Given the description of an element on the screen output the (x, y) to click on. 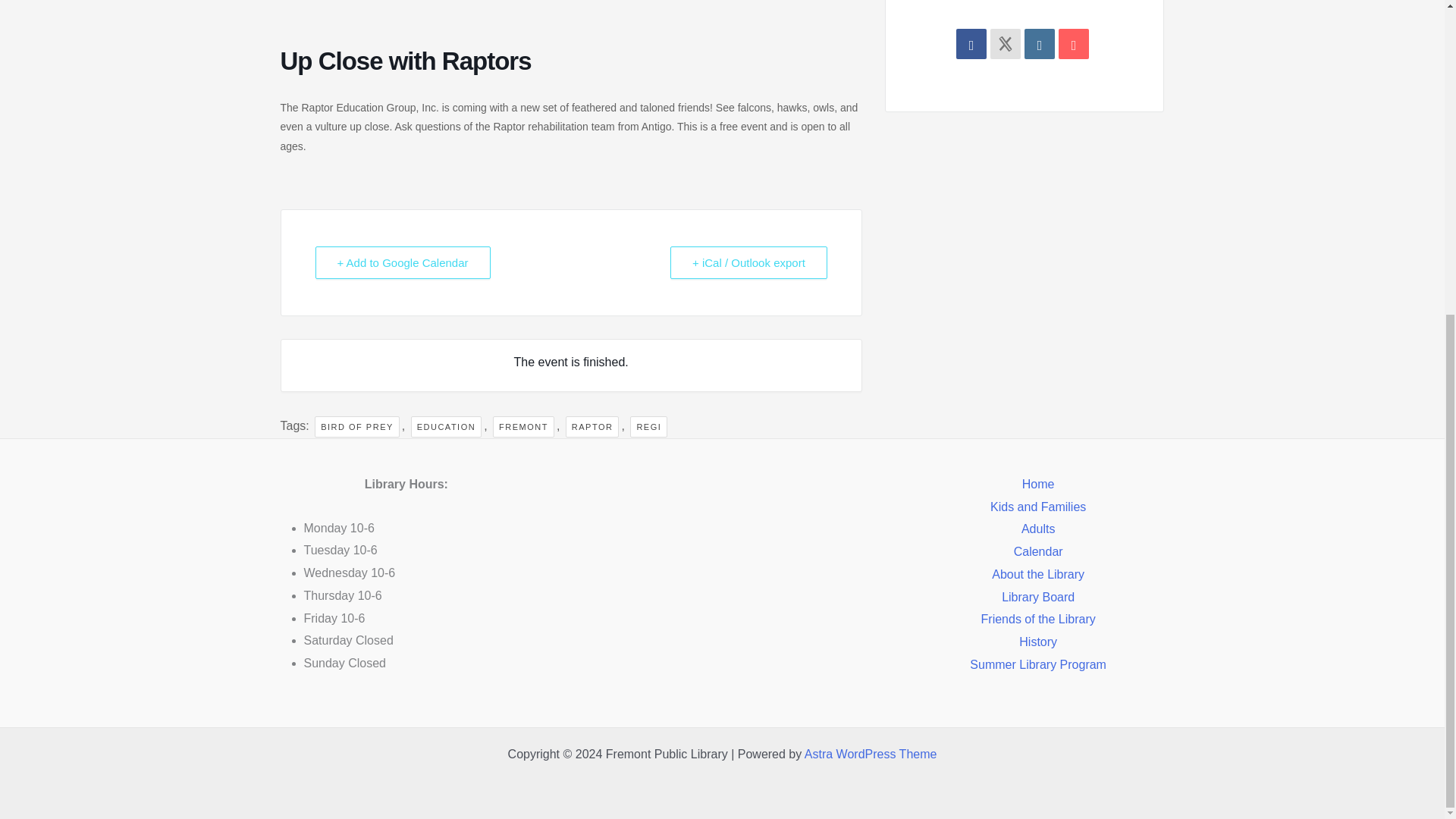
REGI (648, 426)
Linkedin (1039, 43)
EDUCATION (445, 426)
Email (1073, 43)
BIRD OF PREY (356, 426)
Share on Facebook (971, 43)
FREMONT (523, 426)
X Social Network (1005, 43)
RAPTOR (593, 426)
